Given the description of an element on the screen output the (x, y) to click on. 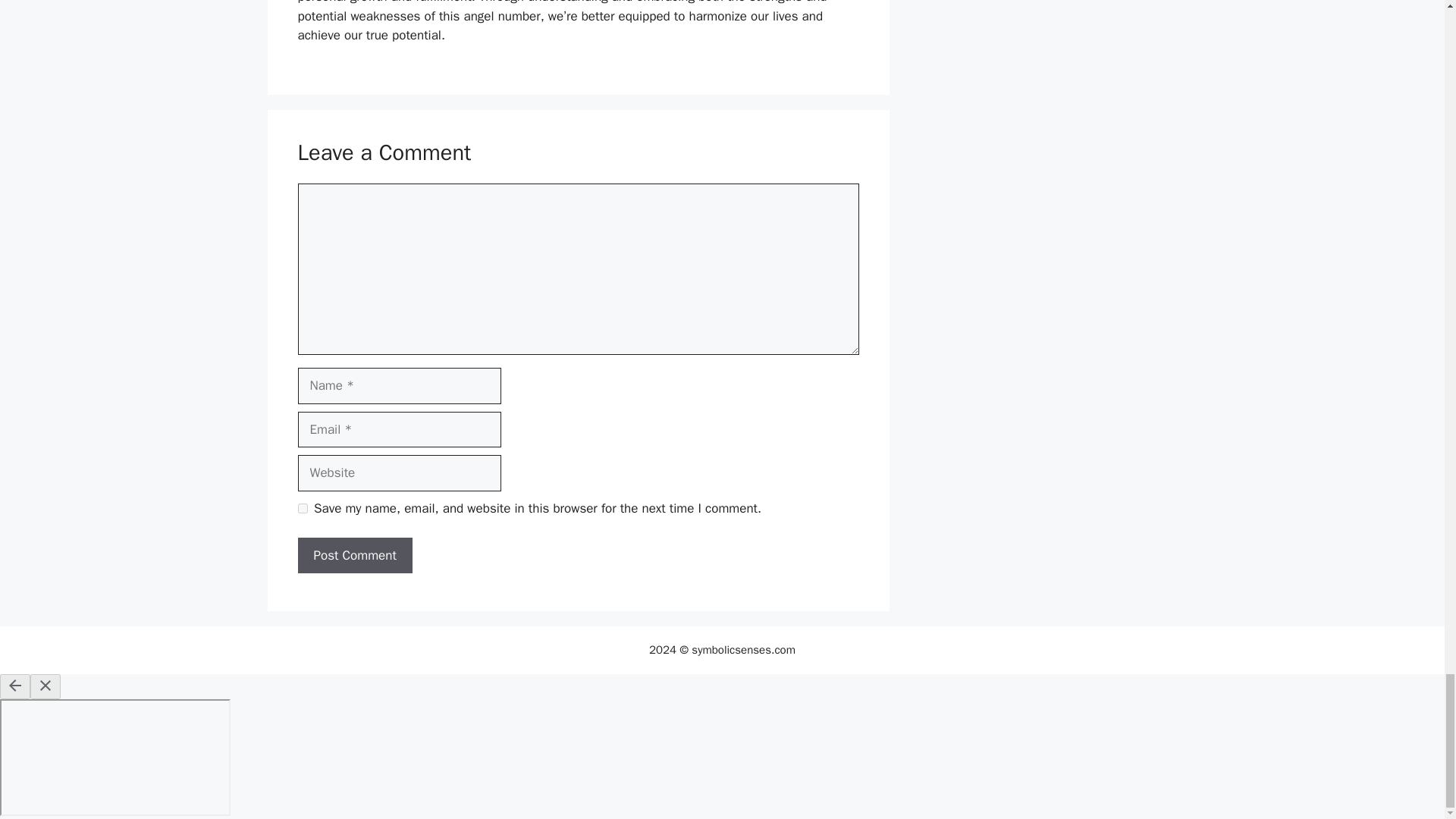
Post Comment (354, 555)
Post Comment (354, 555)
yes (302, 508)
